Given the description of an element on the screen output the (x, y) to click on. 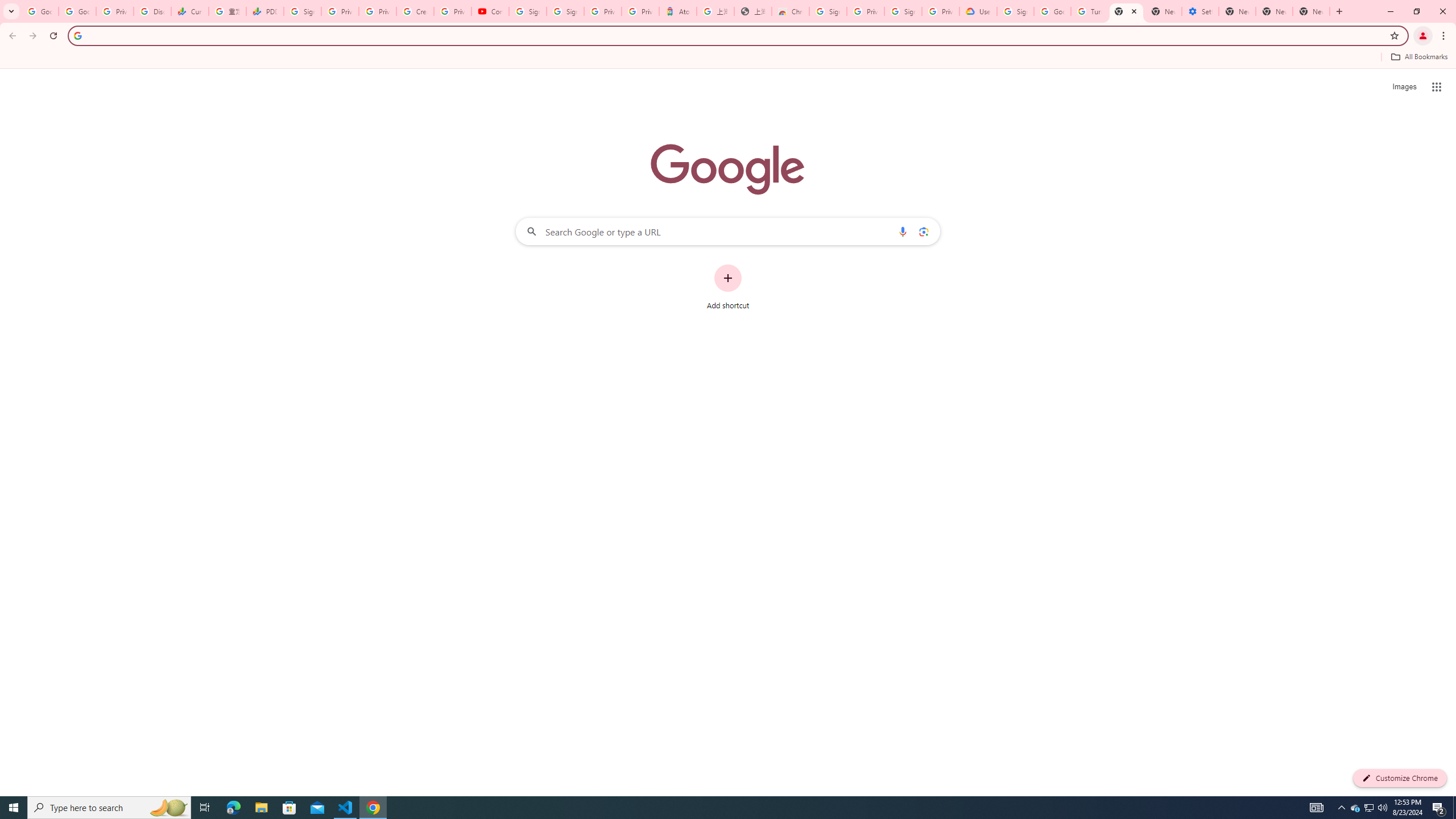
Turn cookies on or off - Computer - Google Account Help (1088, 11)
Sign in - Google Accounts (565, 11)
Bookmarks (728, 58)
Search for Images  (1403, 87)
Chrome Web Store - Color themes by Chrome (790, 11)
New Tab (1311, 11)
